Given the description of an element on the screen output the (x, y) to click on. 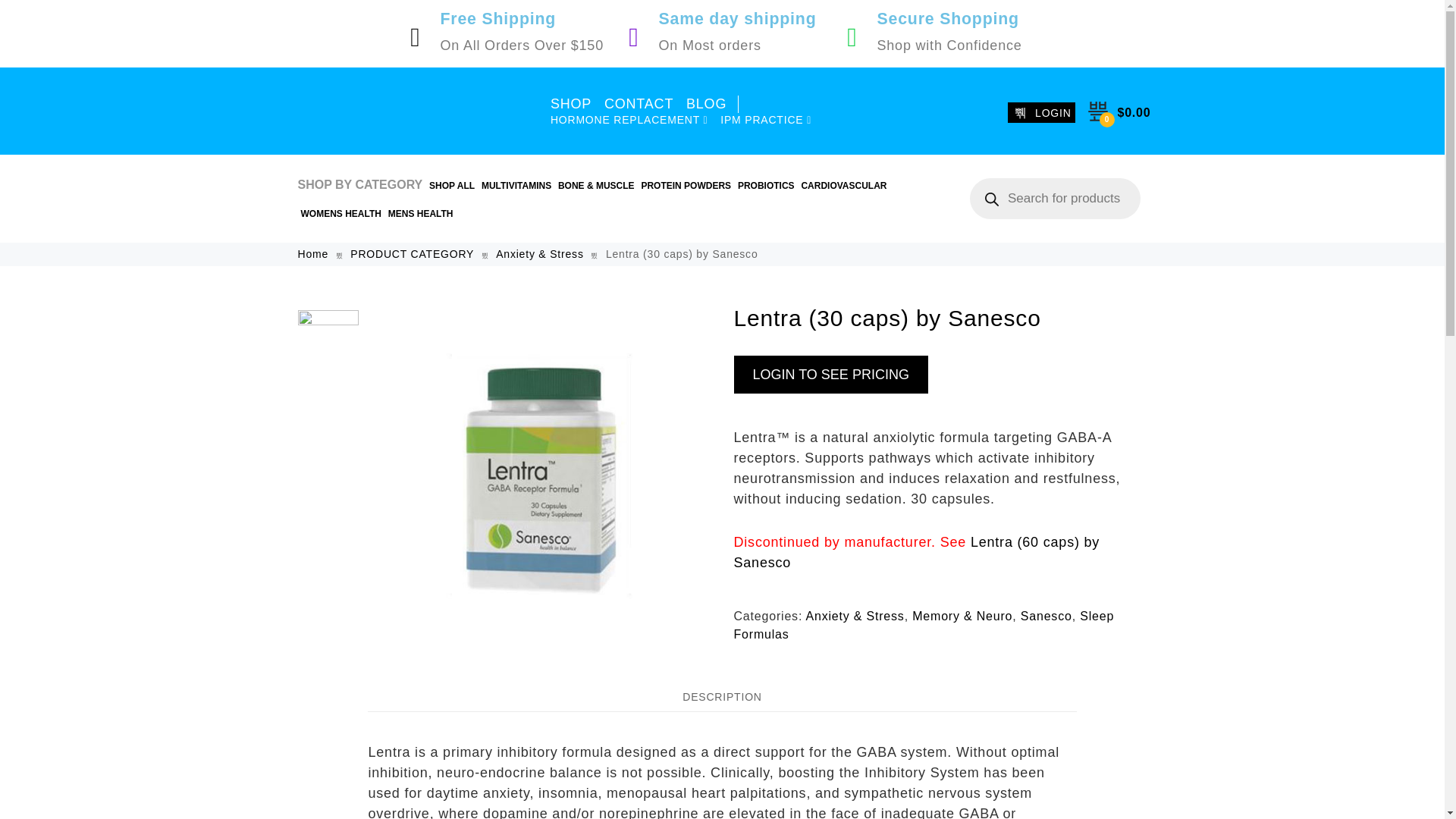
SHOP BY CATEGORY (359, 184)
WOMENS HEALTH (339, 214)
SHOP ALL (451, 185)
CARDIOVASCULAR (843, 185)
MENS HEALTH (420, 214)
HORMONE REPLACEMENT (629, 119)
MULTIVITAMINS (516, 185)
IPM PRACTICE (765, 119)
SHOP (571, 104)
IPM Supplements (410, 110)
